Given the description of an element on the screen output the (x, y) to click on. 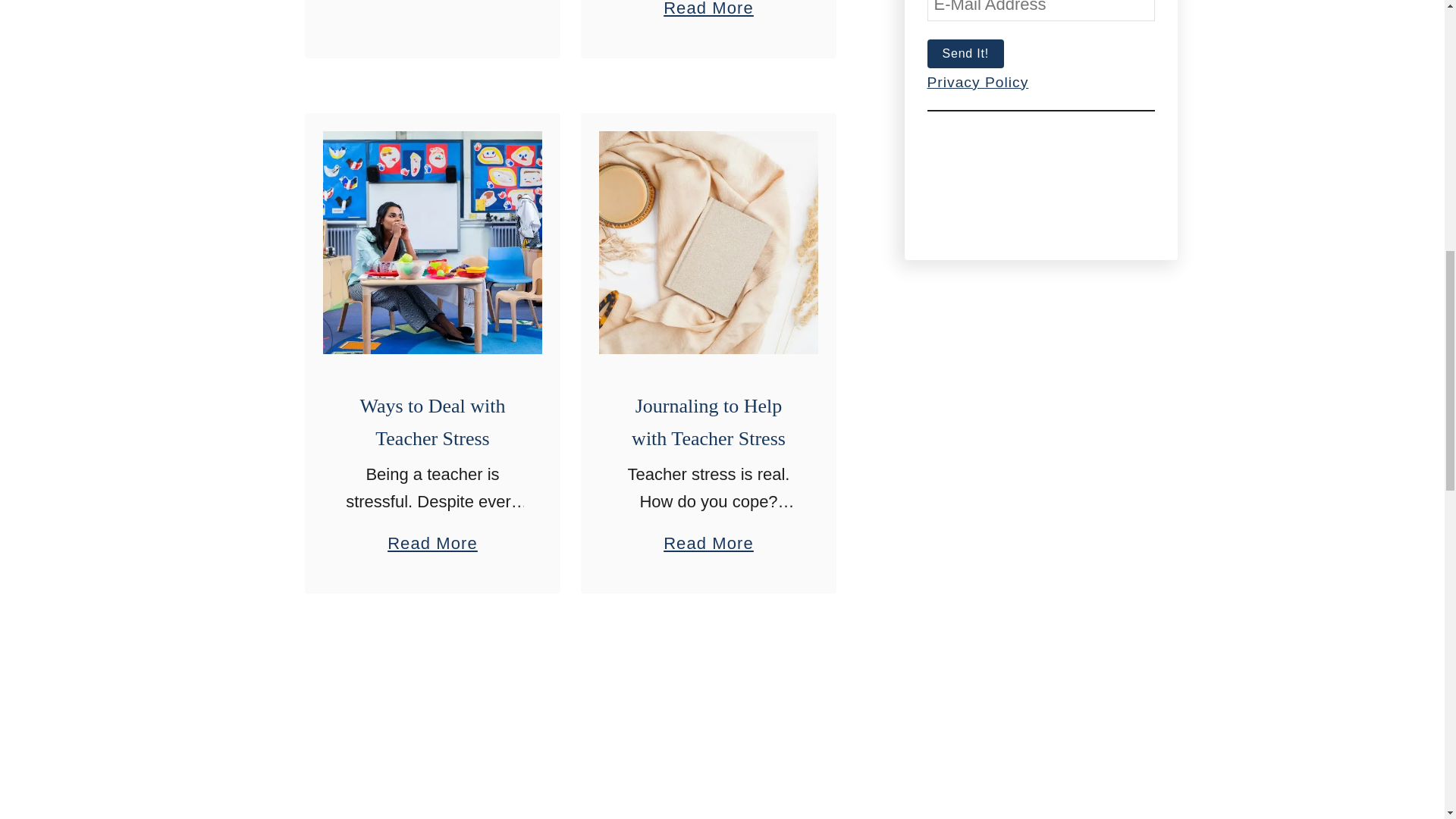
Send It! (965, 53)
Journaling to Help with Teacher Stress (708, 242)
Ways to Deal with Teacher Stress (432, 421)
Ways to Deal with Teacher Stress (432, 242)
Journaling to Help with Teacher Stress (708, 536)
